Given the description of an element on the screen output the (x, y) to click on. 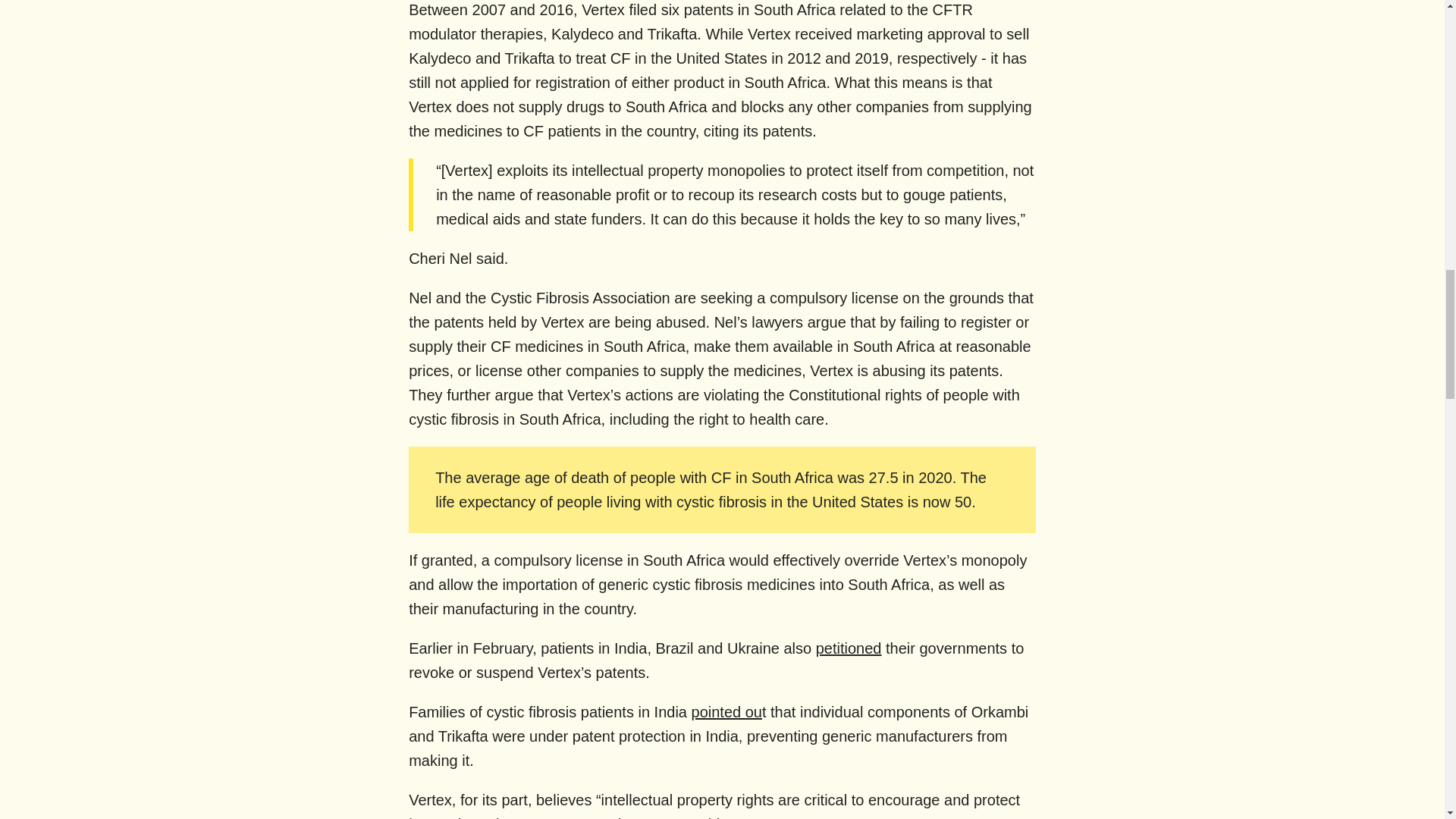
pointed ou (726, 711)
petitioned (848, 647)
